Given the description of an element on the screen output the (x, y) to click on. 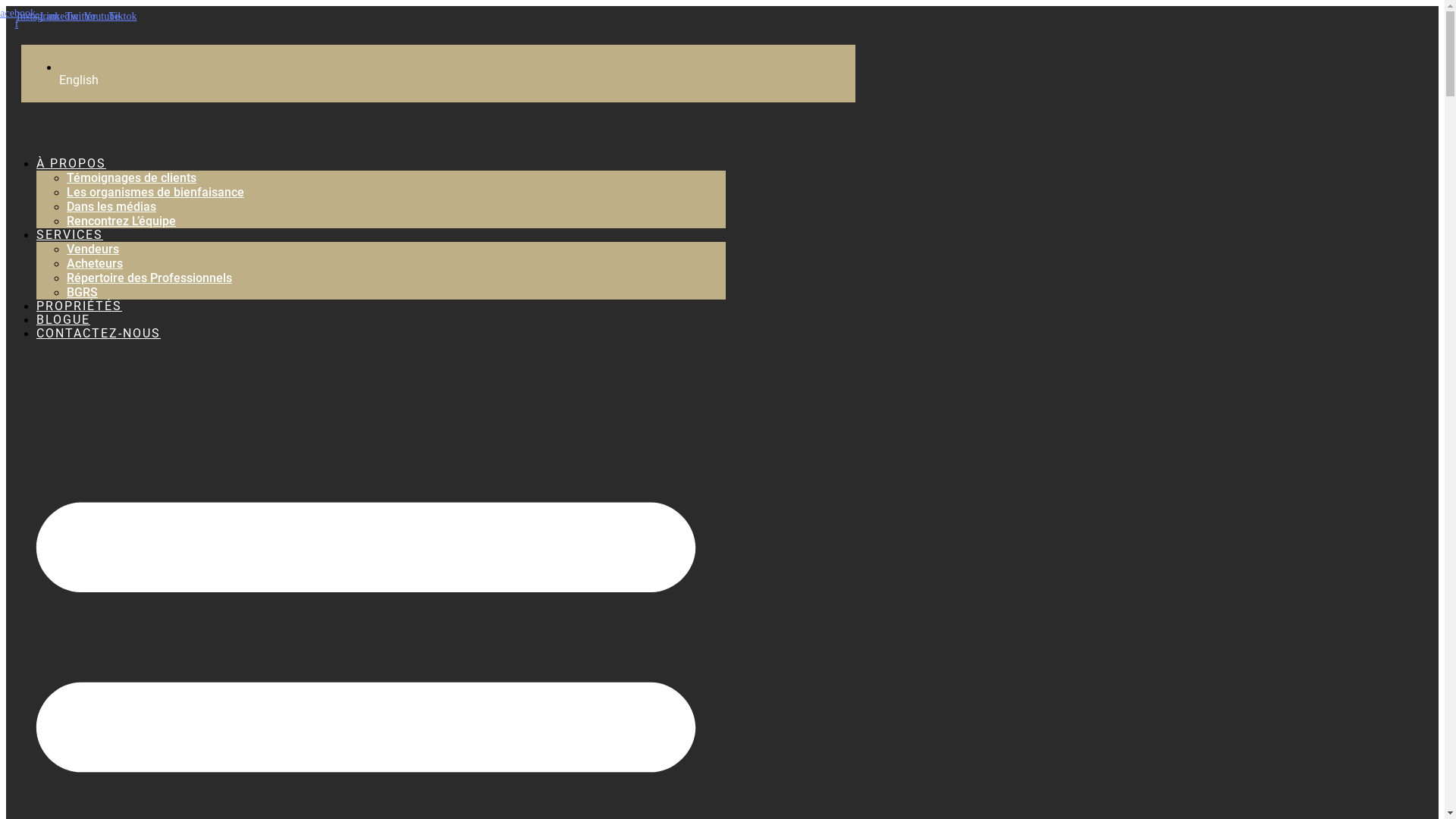
Acheteurs Element type: text (94, 263)
English Element type: text (78, 80)
Tiktok Element type: text (122, 16)
BGRS Element type: text (81, 292)
SERVICES Element type: text (69, 234)
Youtube Element type: text (101, 16)
Facebook-f Element type: text (16, 18)
BLOGUE Element type: text (63, 319)
Linkedin Element type: text (58, 16)
Les organismes de bienfaisance Element type: text (155, 192)
CONTACTEZ-NOUS Element type: text (98, 333)
Instagram Element type: text (37, 16)
Twitter Element type: text (80, 16)
Vendeurs Element type: text (92, 248)
